Given the description of an element on the screen output the (x, y) to click on. 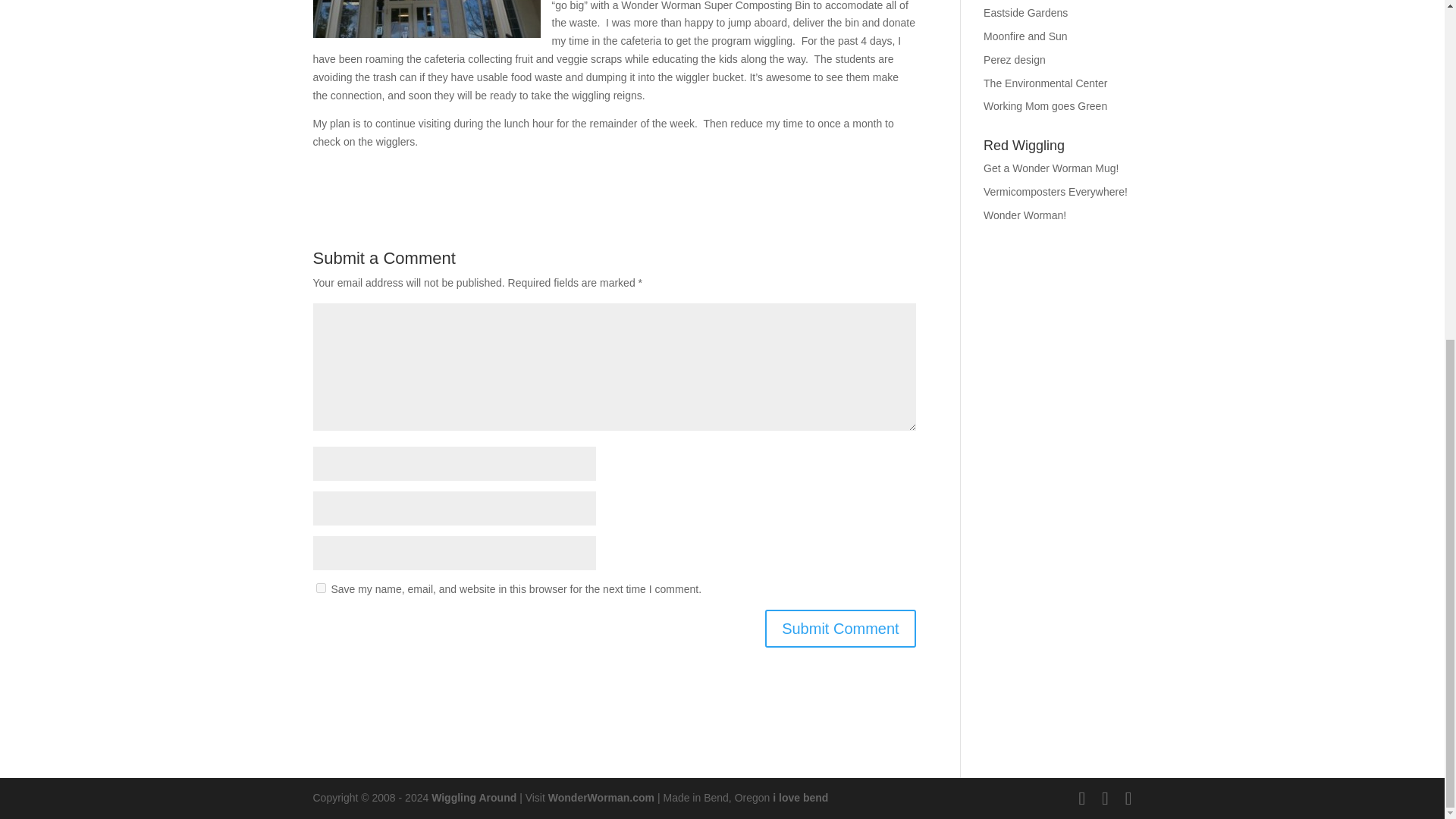
yes (319, 587)
Submit Comment (840, 628)
Perez design (1014, 60)
Tumalo Community School (426, 18)
Moonfire and Sun (1025, 36)
Eastside Gardens (1025, 12)
Submit Comment (840, 628)
The Environmental Center (1045, 82)
Working Mom goes Green (1045, 105)
